Given the description of an element on the screen output the (x, y) to click on. 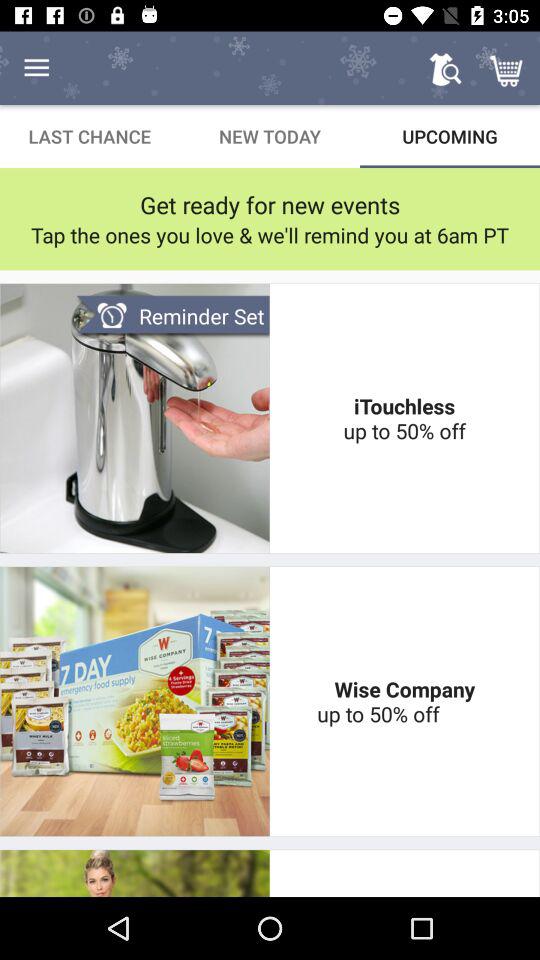
flip to the throw it on icon (404, 873)
